Given the description of an element on the screen output the (x, y) to click on. 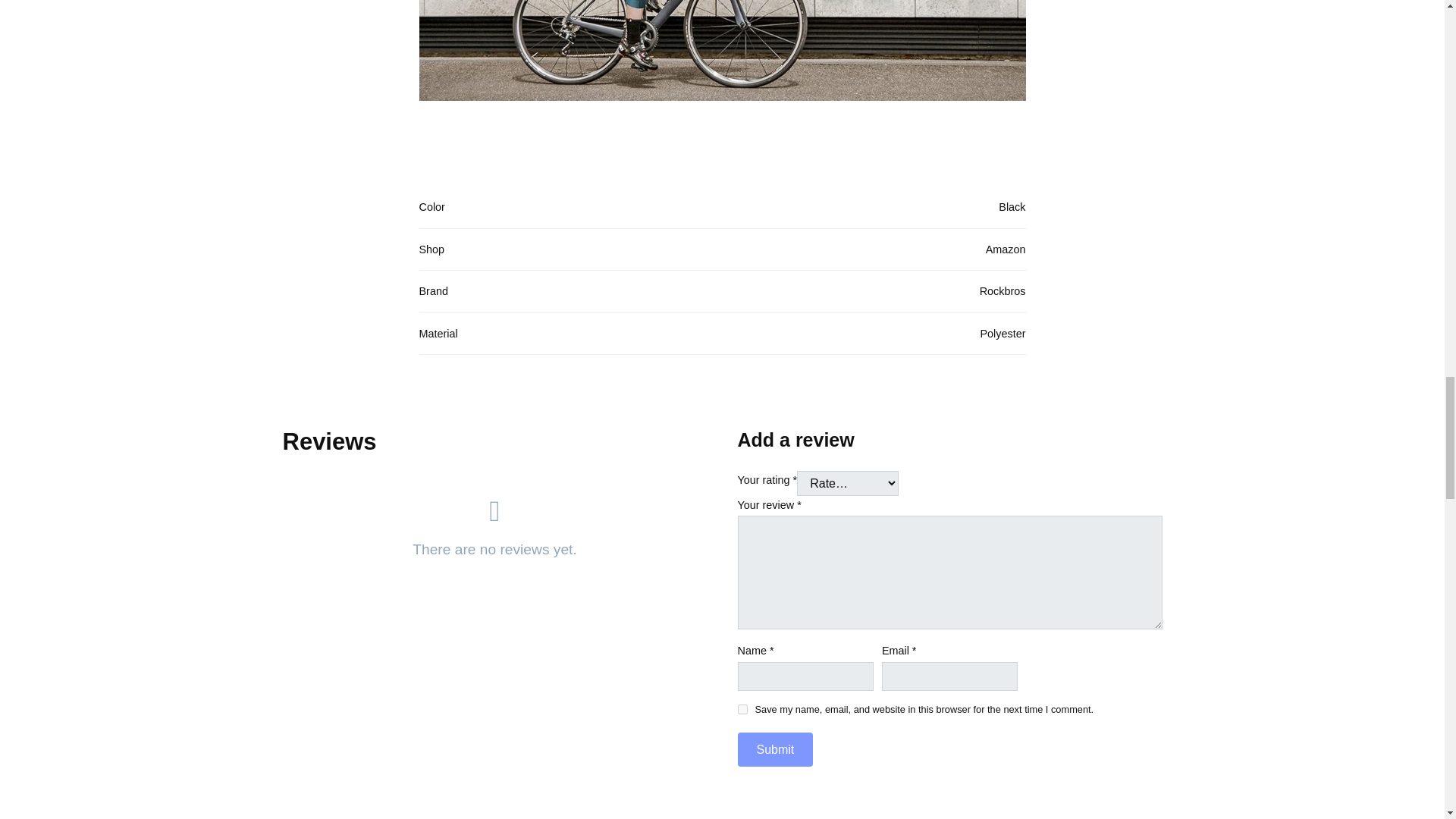
Submit (774, 749)
yes (741, 709)
